Given the description of an element on the screen output the (x, y) to click on. 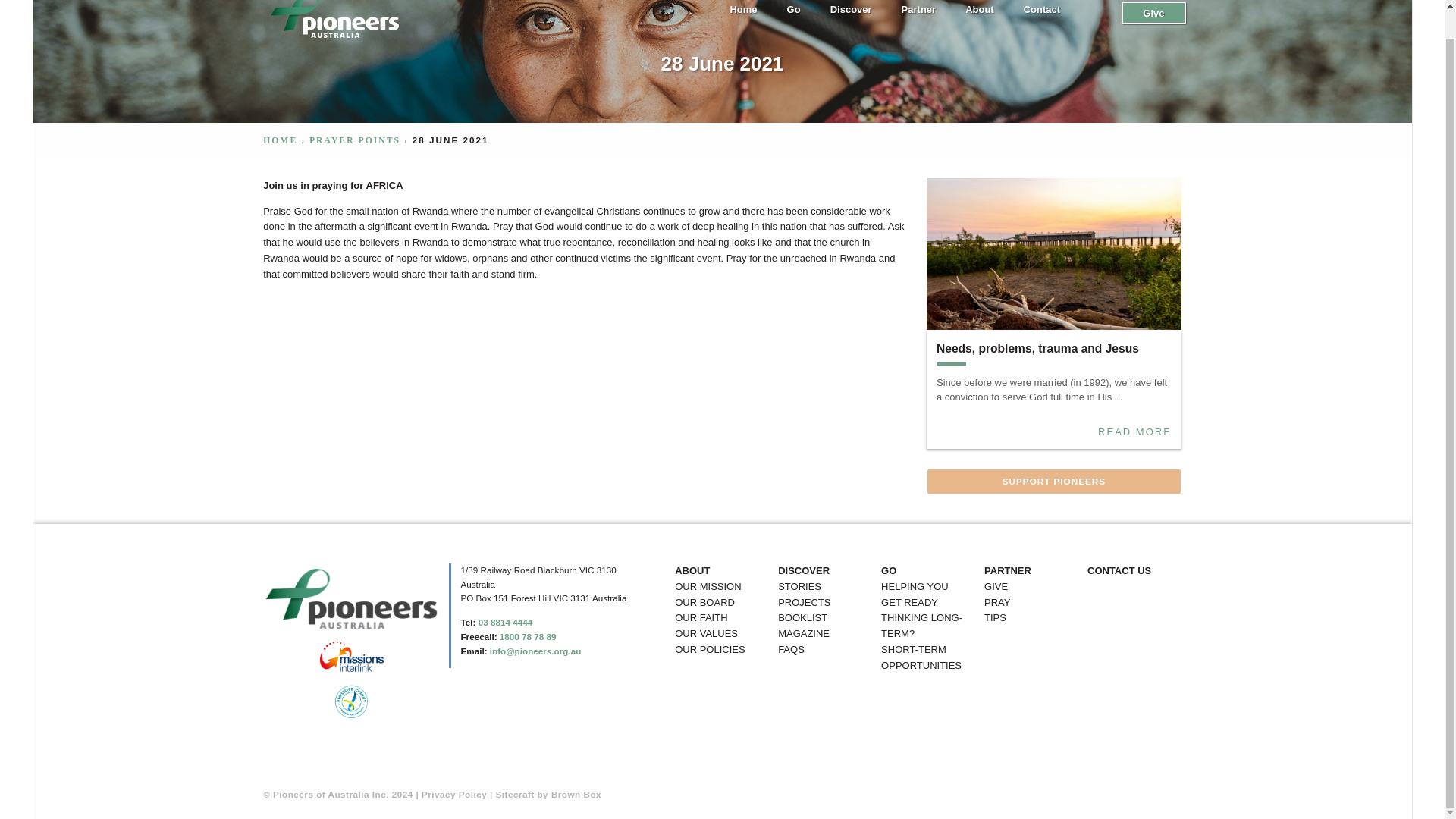
1800 78 78 89 (527, 636)
OUR MISSION (708, 587)
Discover (850, 13)
STORIES (799, 587)
PRAYER POINTS (354, 140)
PROJECTS (803, 602)
About (979, 13)
BOOKLIST (802, 618)
Home (743, 13)
ABOUT (692, 571)
OUR FAITH (700, 618)
OUR VALUES (706, 634)
SUPPORT PIONEERS (1053, 481)
OUR BOARD (705, 602)
HOME (280, 140)
